Given the description of an element on the screen output the (x, y) to click on. 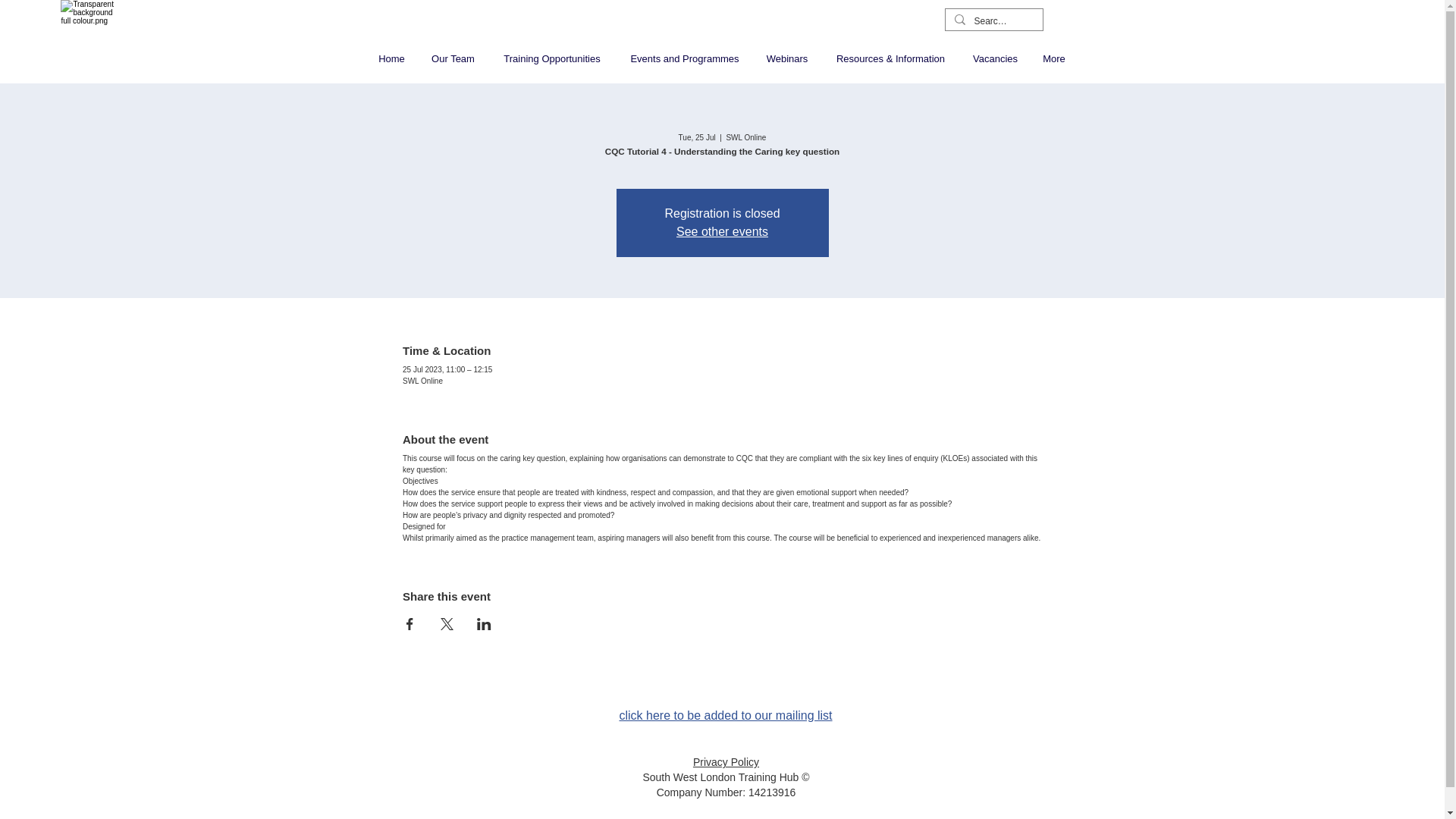
Events and Programmes (683, 58)
Our Team (453, 58)
See other events (722, 231)
Webinars (787, 58)
Home (392, 58)
Training Opportunities (551, 58)
